Given the description of an element on the screen output the (x, y) to click on. 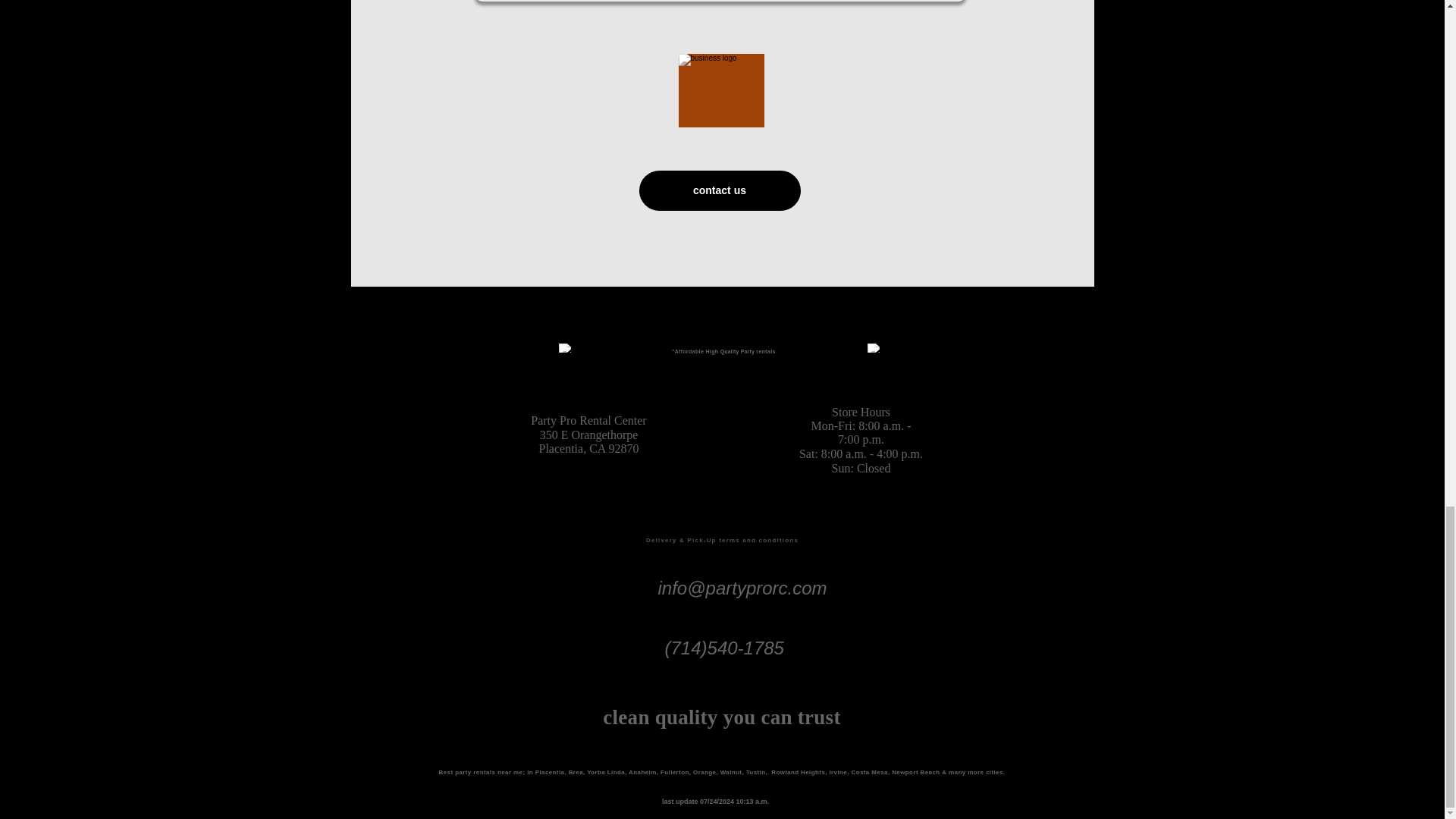
pp logo.jpg (720, 90)
contact us (719, 190)
pp logo.jpg (565, 347)
pp logo.jpg (875, 347)
